Given the description of an element on the screen output the (x, y) to click on. 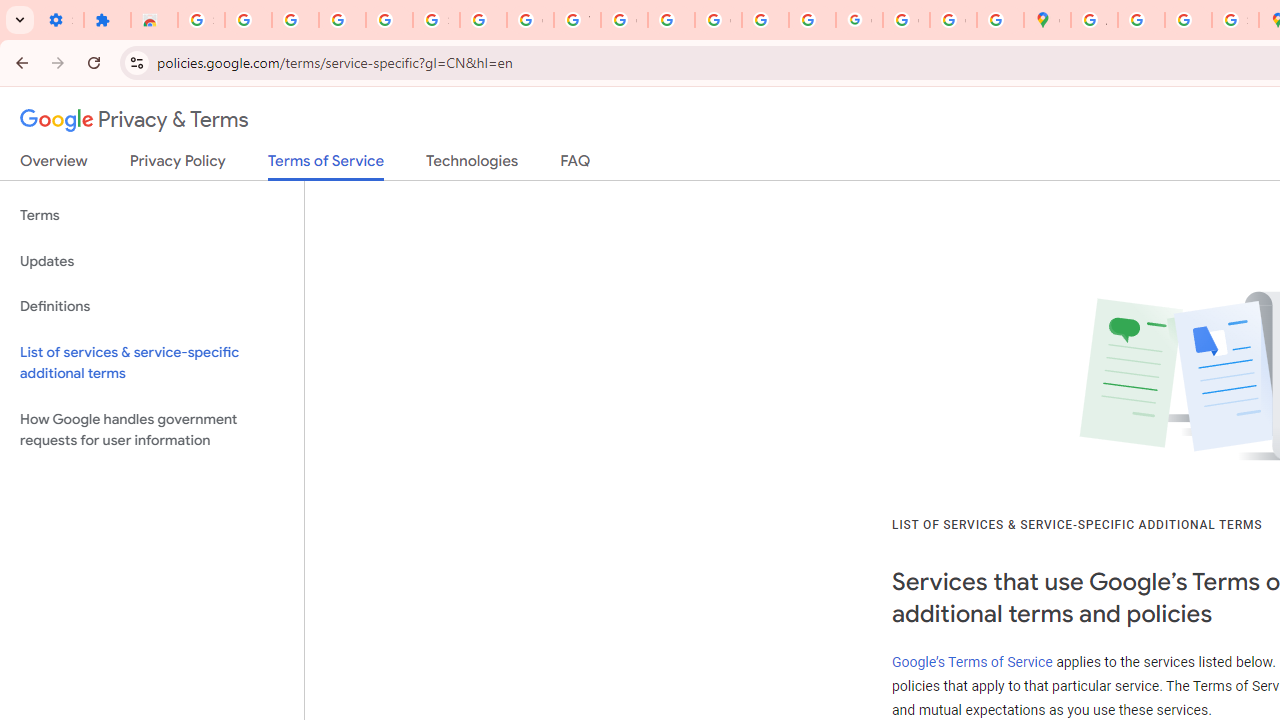
Reviews: Helix Fruit Jump Arcade Game (153, 20)
YouTube (577, 20)
